Given the description of an element on the screen output the (x, y) to click on. 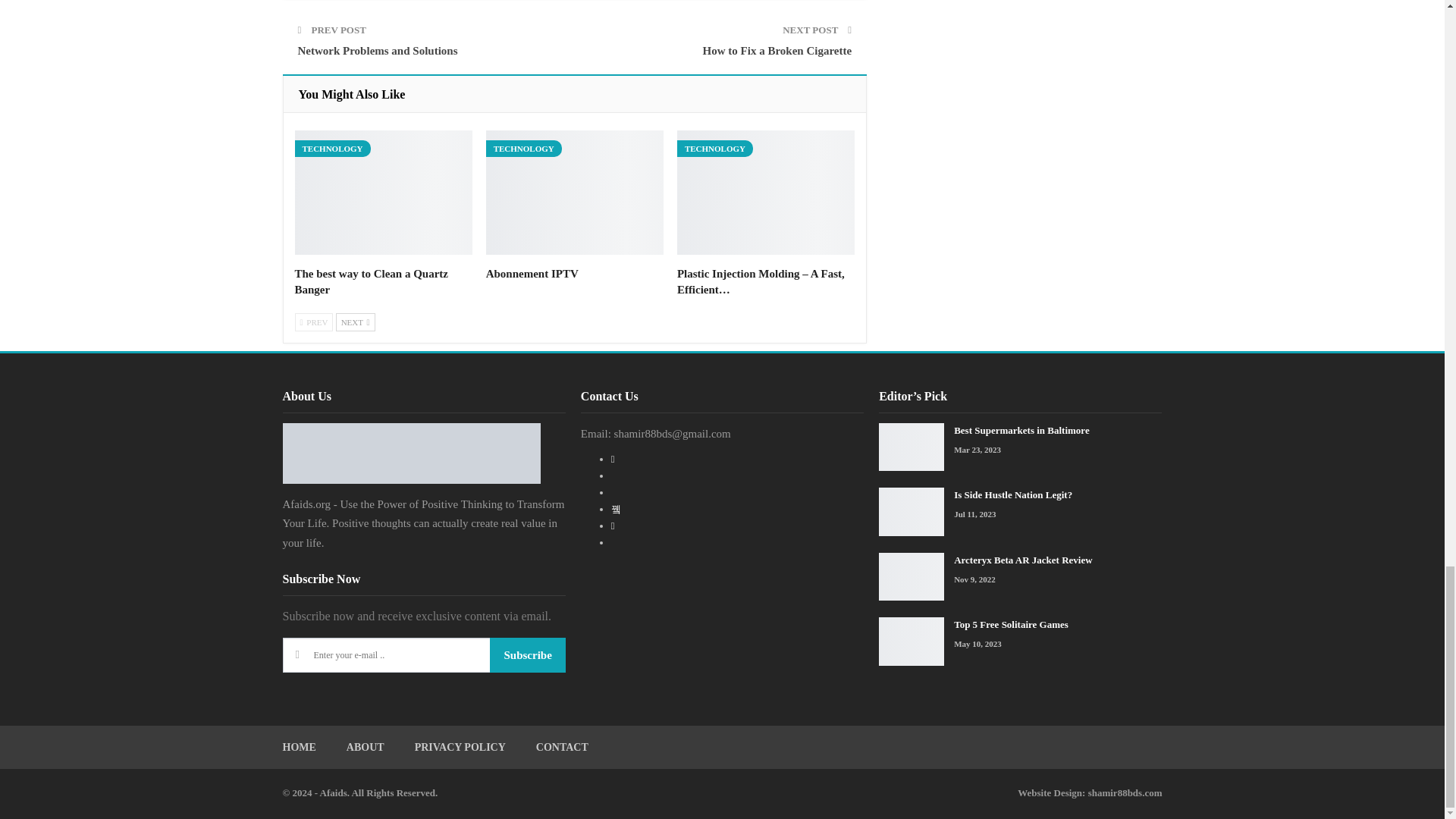
The best way to Clean a Quartz Banger (382, 192)
Abonnement IPTV (574, 192)
Abonnement IPTV (532, 273)
The best way to Clean a Quartz Banger (371, 281)
